Given the description of an element on the screen output the (x, y) to click on. 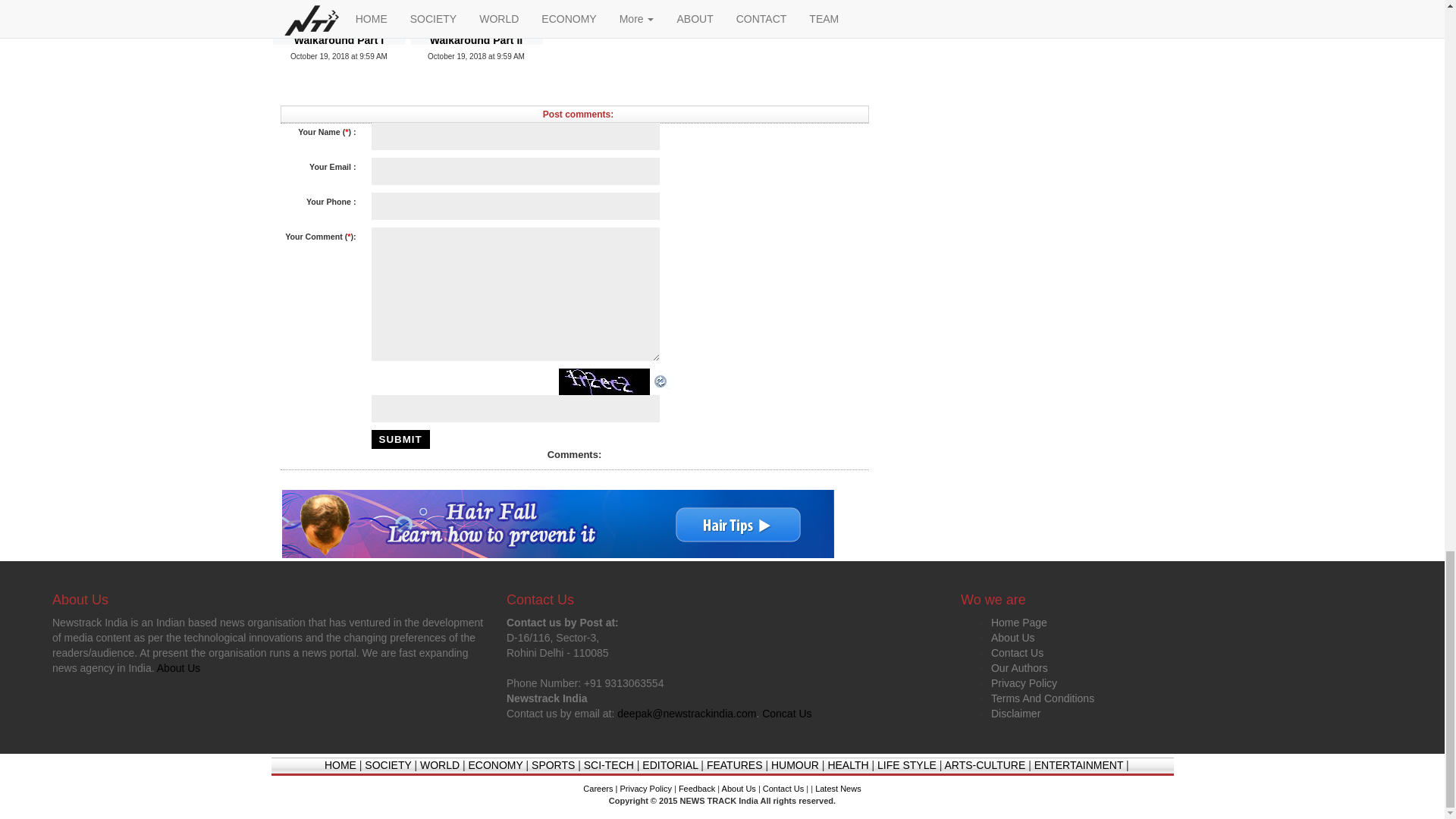
Advertisement (446, 89)
submit (400, 438)
Refresh Image (660, 380)
